Given the description of an element on the screen output the (x, y) to click on. 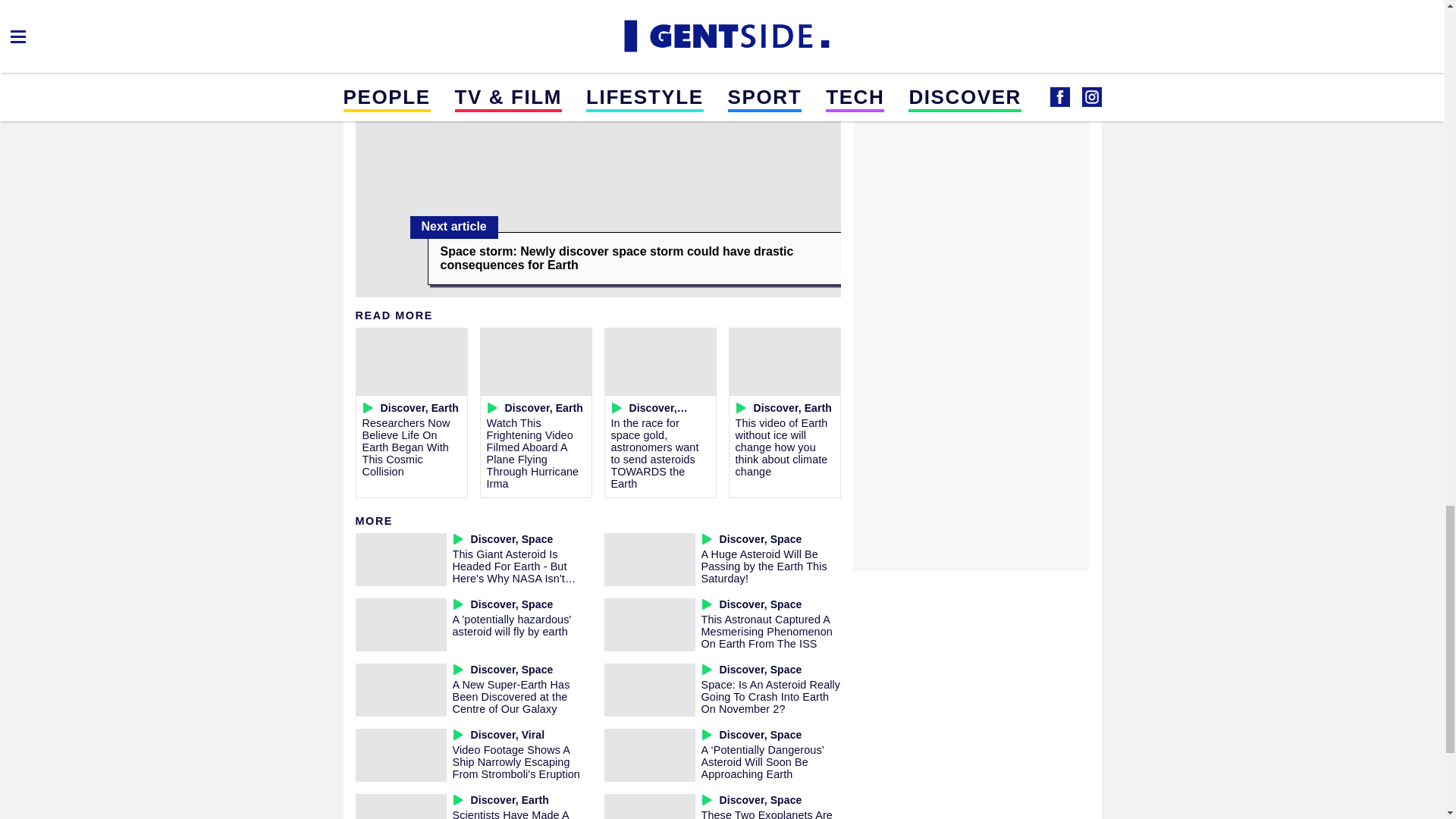
A 'potentially hazardous' asteroid will fly by earth (510, 625)
EARTH (377, 5)
